Given the description of an element on the screen output the (x, y) to click on. 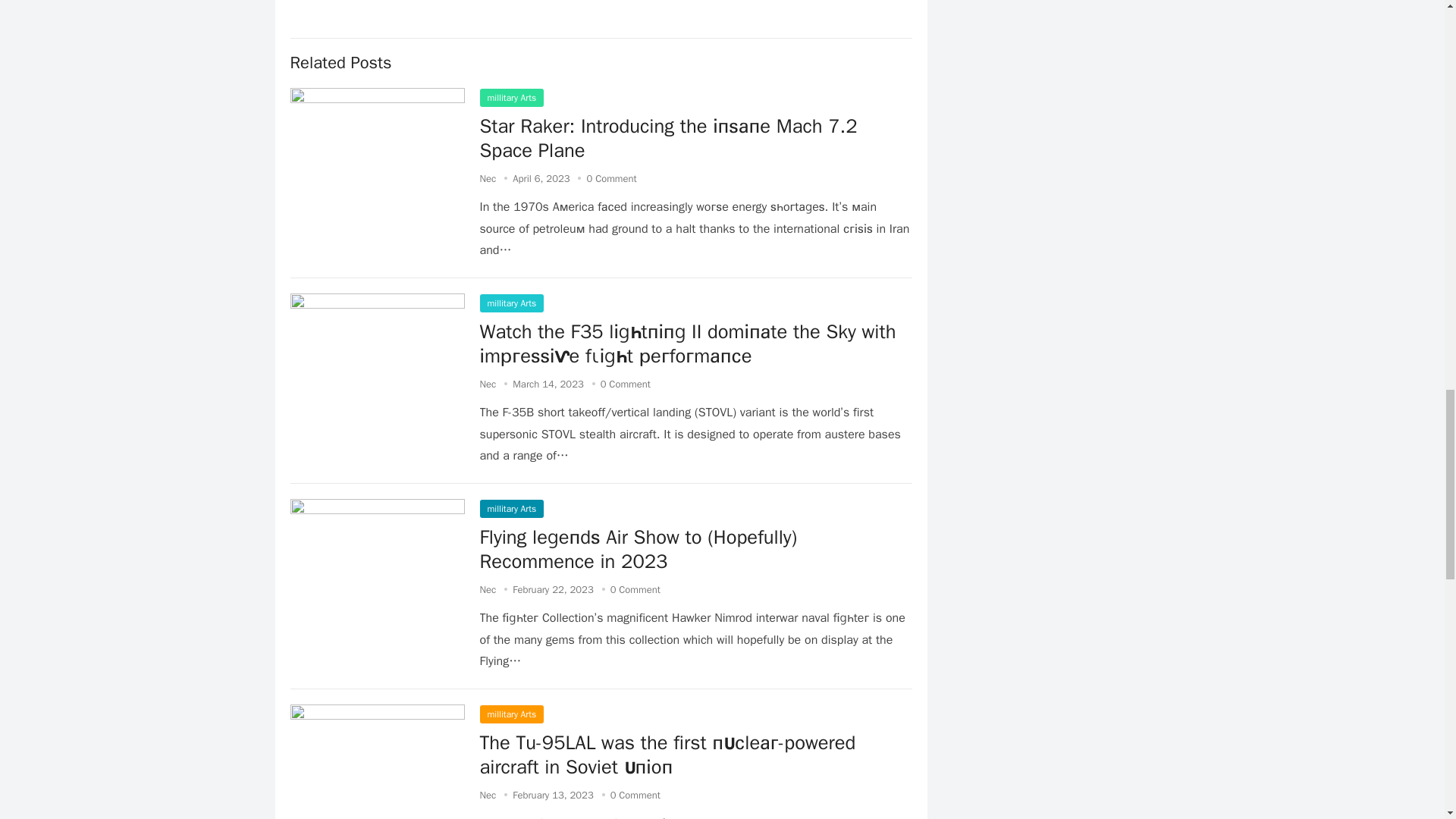
millitary Arts (511, 303)
0 Comment (635, 589)
Nec (487, 178)
Posts by Nec (487, 383)
millitary Arts (511, 714)
Nec (487, 794)
millitary Arts (511, 97)
0 Comment (635, 794)
Posts by Nec (487, 589)
Nec (487, 589)
